Given the description of an element on the screen output the (x, y) to click on. 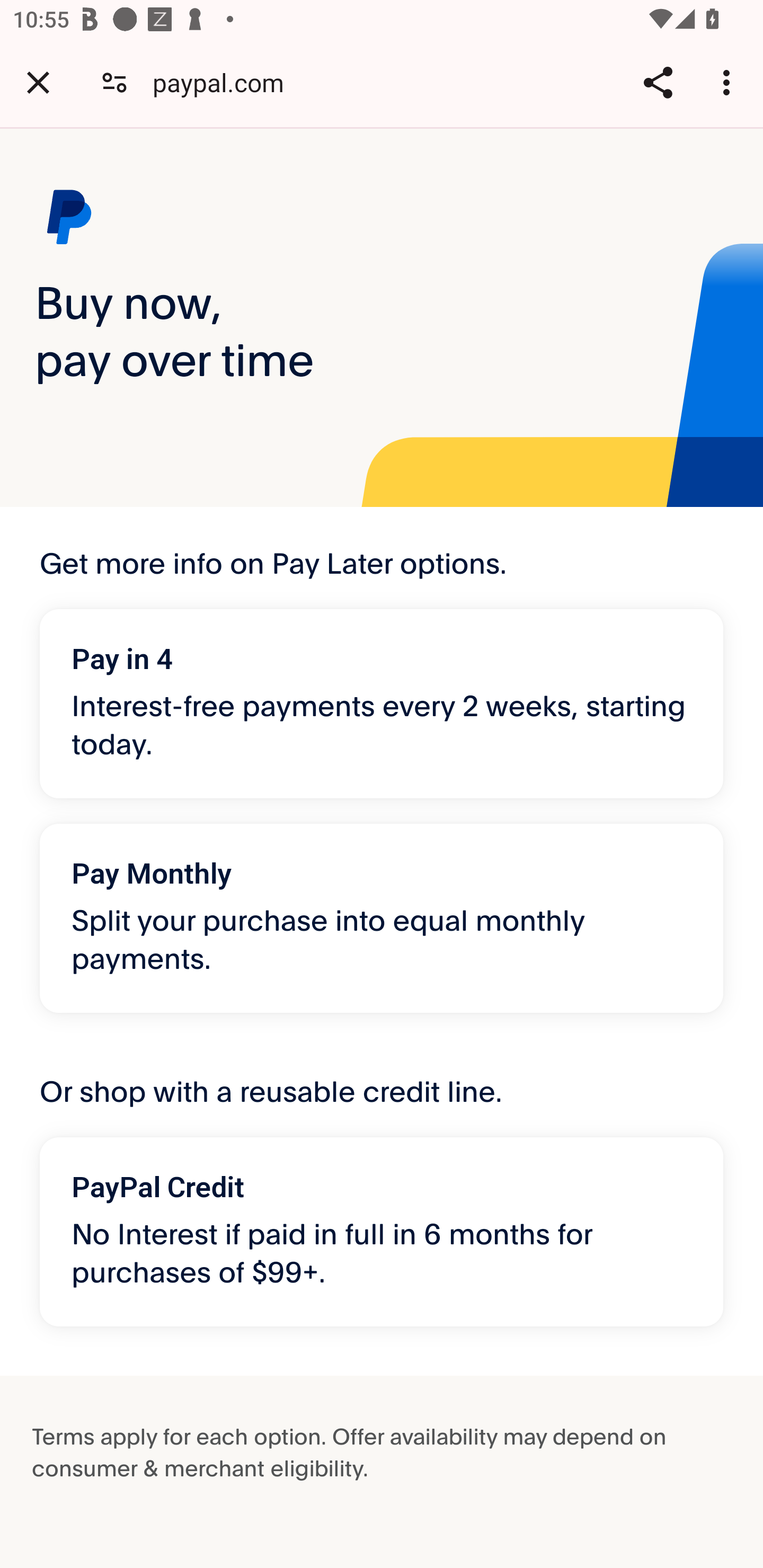
Close tab (38, 82)
Share (657, 82)
Customize and control Google Chrome (729, 82)
Connection is secure (114, 81)
paypal.com (224, 81)
